Given the description of an element on the screen output the (x, y) to click on. 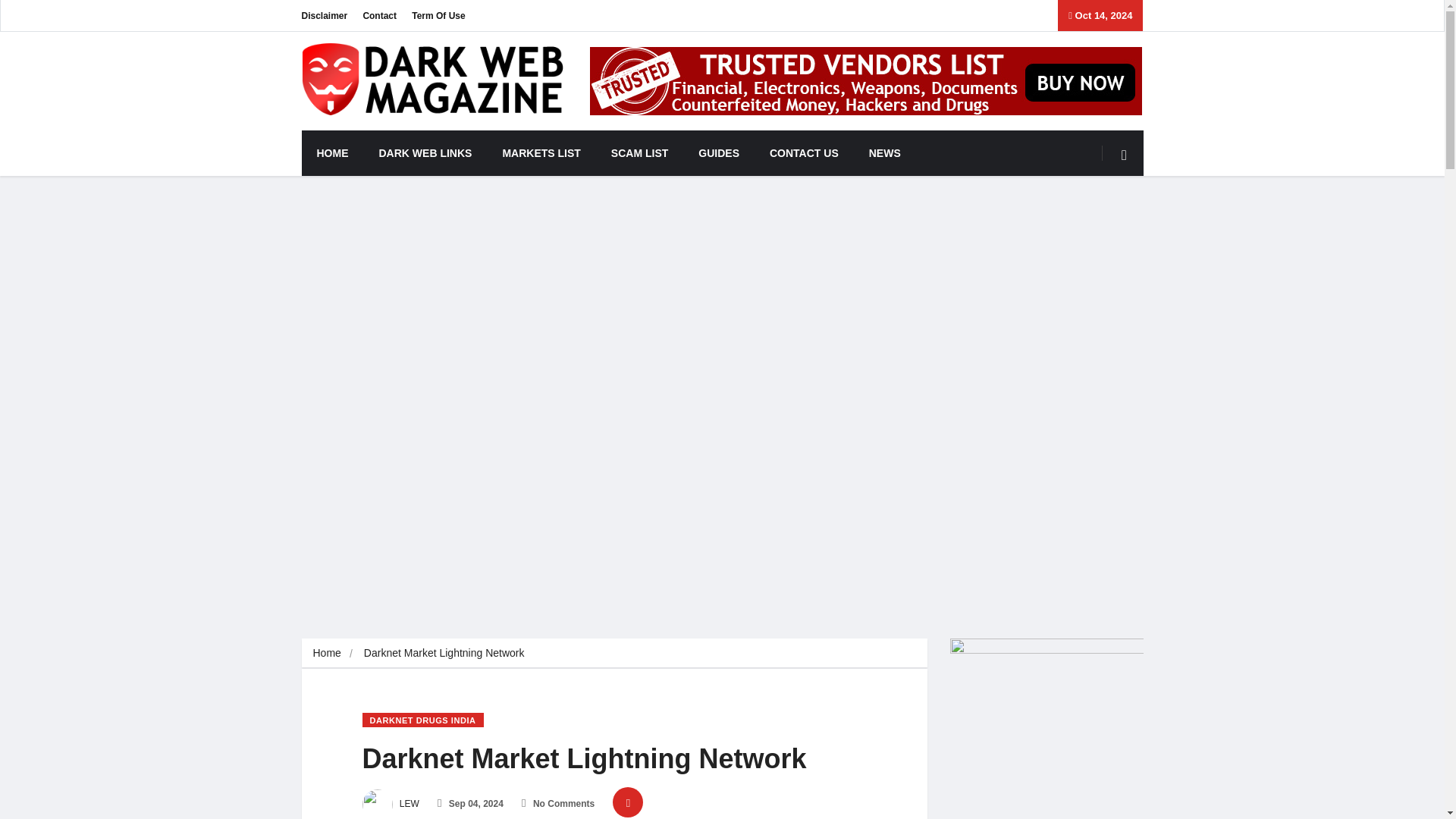
MARKETS LIST (540, 153)
HOME (332, 153)
NEWS (884, 153)
Term Of Use (438, 15)
LEW (390, 803)
Home (326, 653)
Contact (379, 15)
DARK WEB LINKS (425, 153)
CONTACT US (803, 153)
Disclaimer (324, 15)
